Given the description of an element on the screen output the (x, y) to click on. 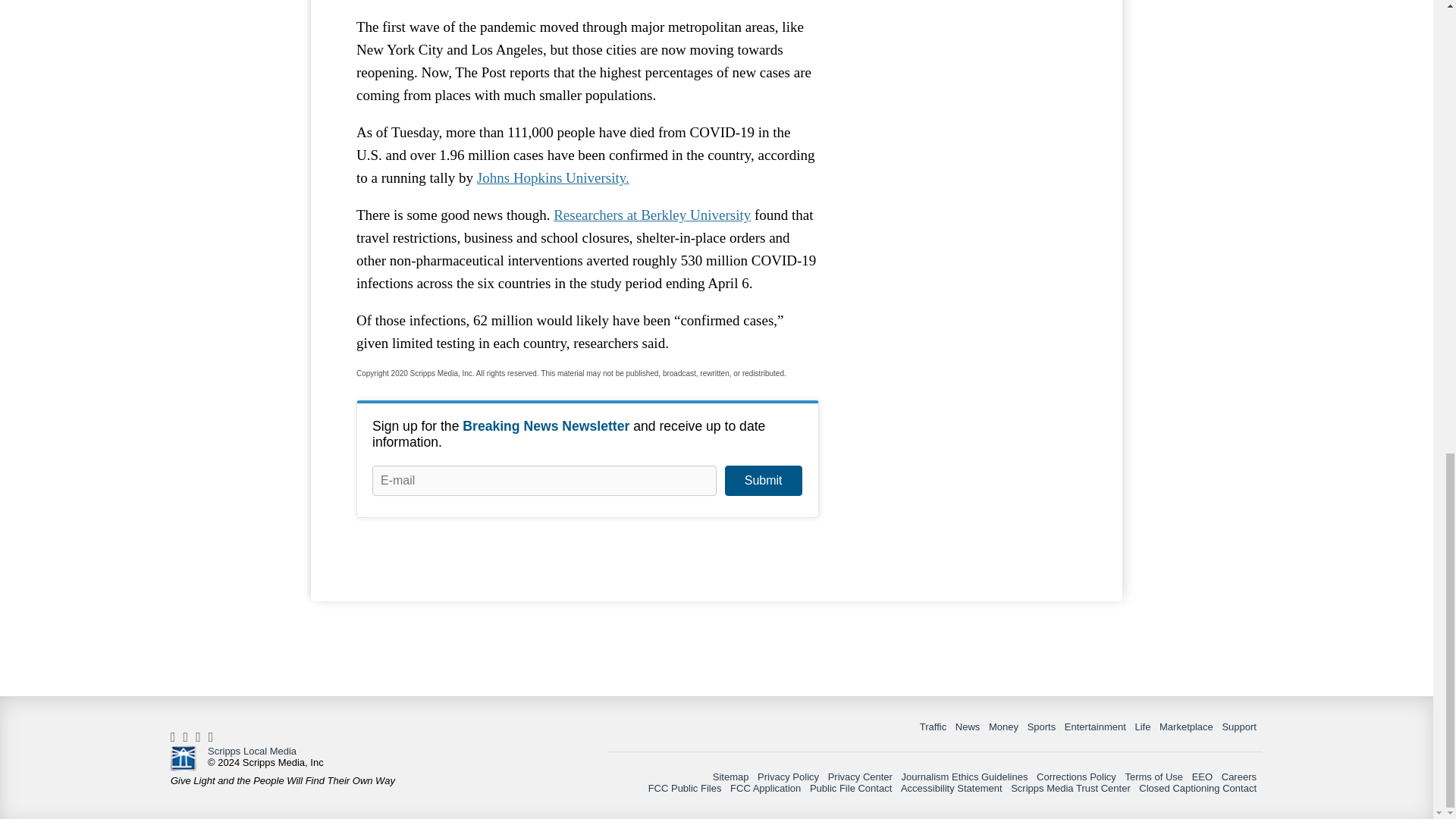
Submit (763, 481)
